Given the description of an element on the screen output the (x, y) to click on. 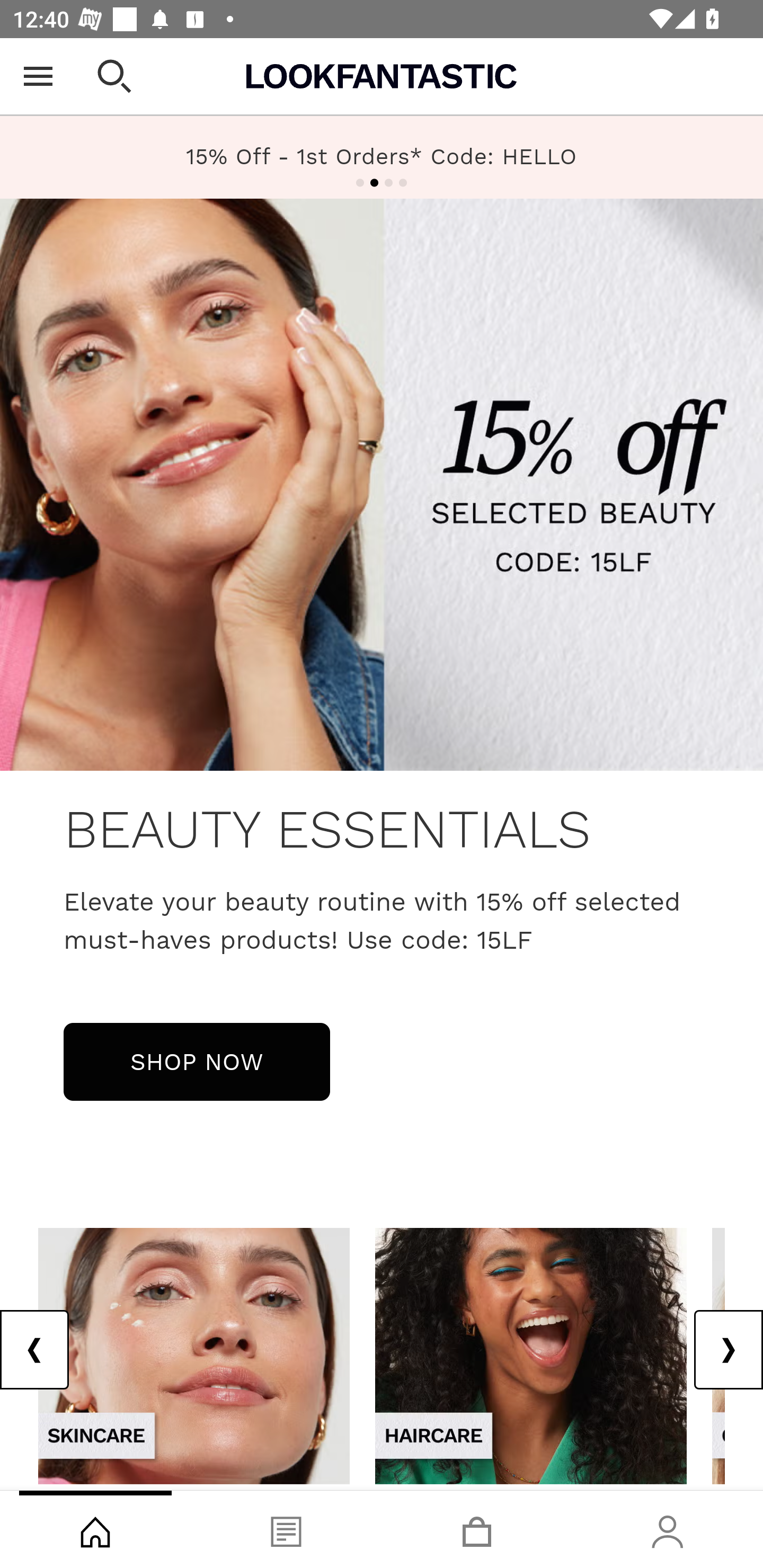
Open Menu (38, 75)
Open search (114, 75)
Lookfantastic USA (381, 75)
FREE US Shipping Over $40 (381, 157)
SHOP NOW (196, 1061)
view-all (193, 1355)
view-all (530, 1355)
Previous (35, 1349)
Next (727, 1349)
Shop, tab, 1 of 4 (95, 1529)
Blog, tab, 2 of 4 (285, 1529)
Basket, tab, 3 of 4 (476, 1529)
Account, tab, 4 of 4 (667, 1529)
